Given the description of an element on the screen output the (x, y) to click on. 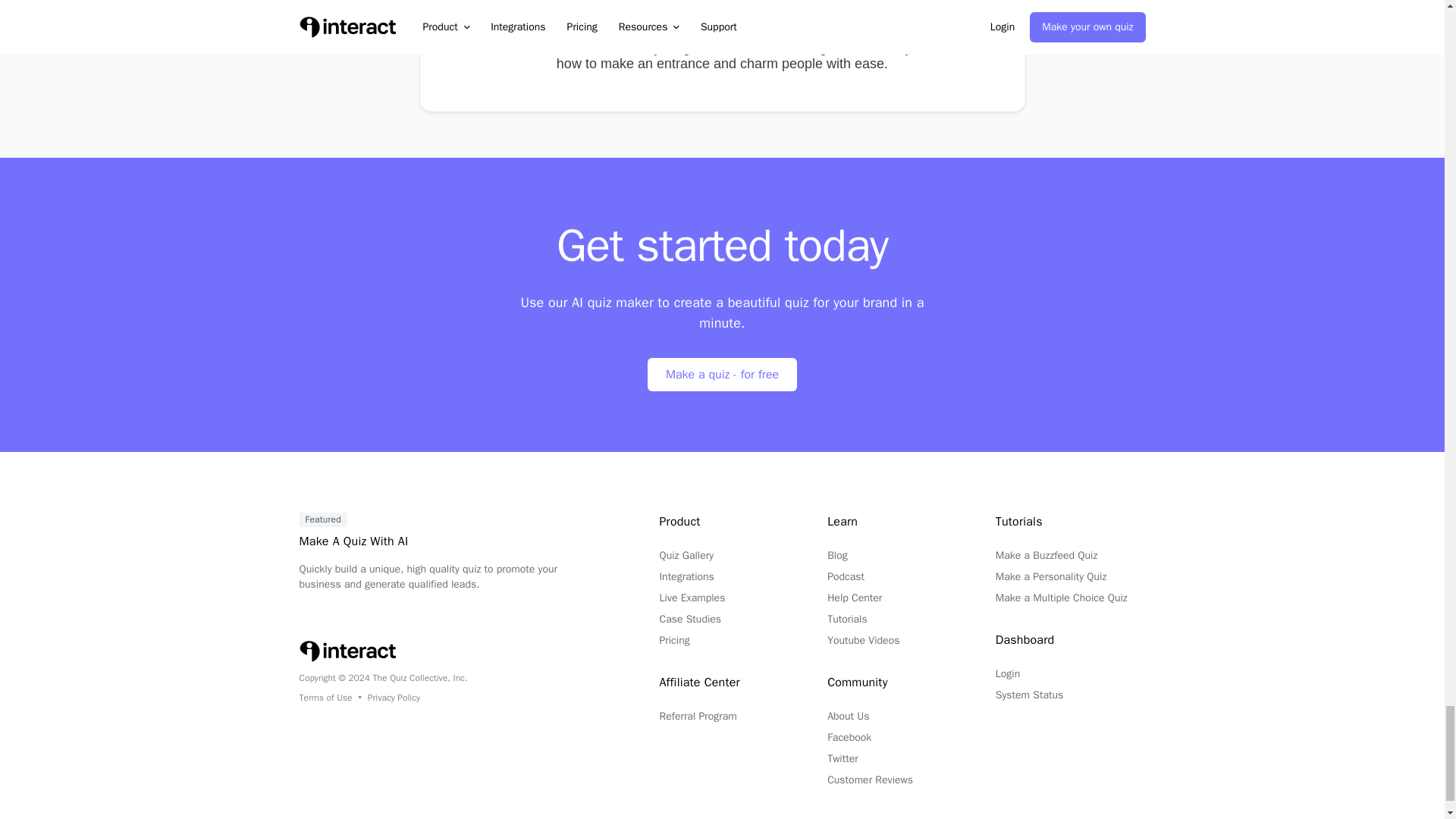
Blog (837, 554)
Make a quiz - for free (721, 374)
Twitter (843, 758)
Live Examples (692, 597)
Facebook (848, 737)
Youtube Videos (863, 640)
Help Center (854, 597)
Podcast (845, 576)
Referral Program (697, 716)
Integrations (686, 576)
